Given the description of an element on the screen output the (x, y) to click on. 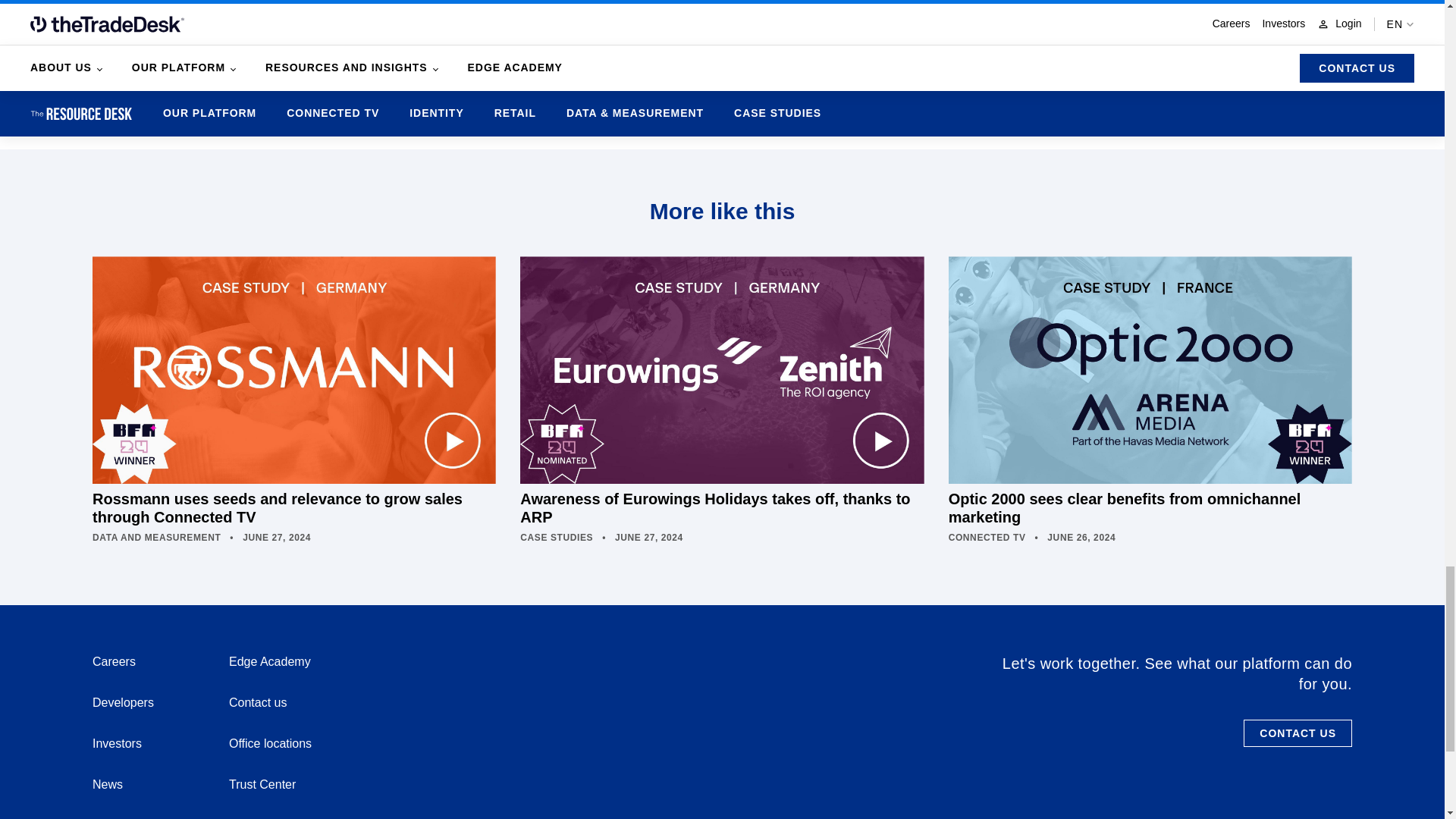
DOWNLOAD (861, 81)
